Given the description of an element on the screen output the (x, y) to click on. 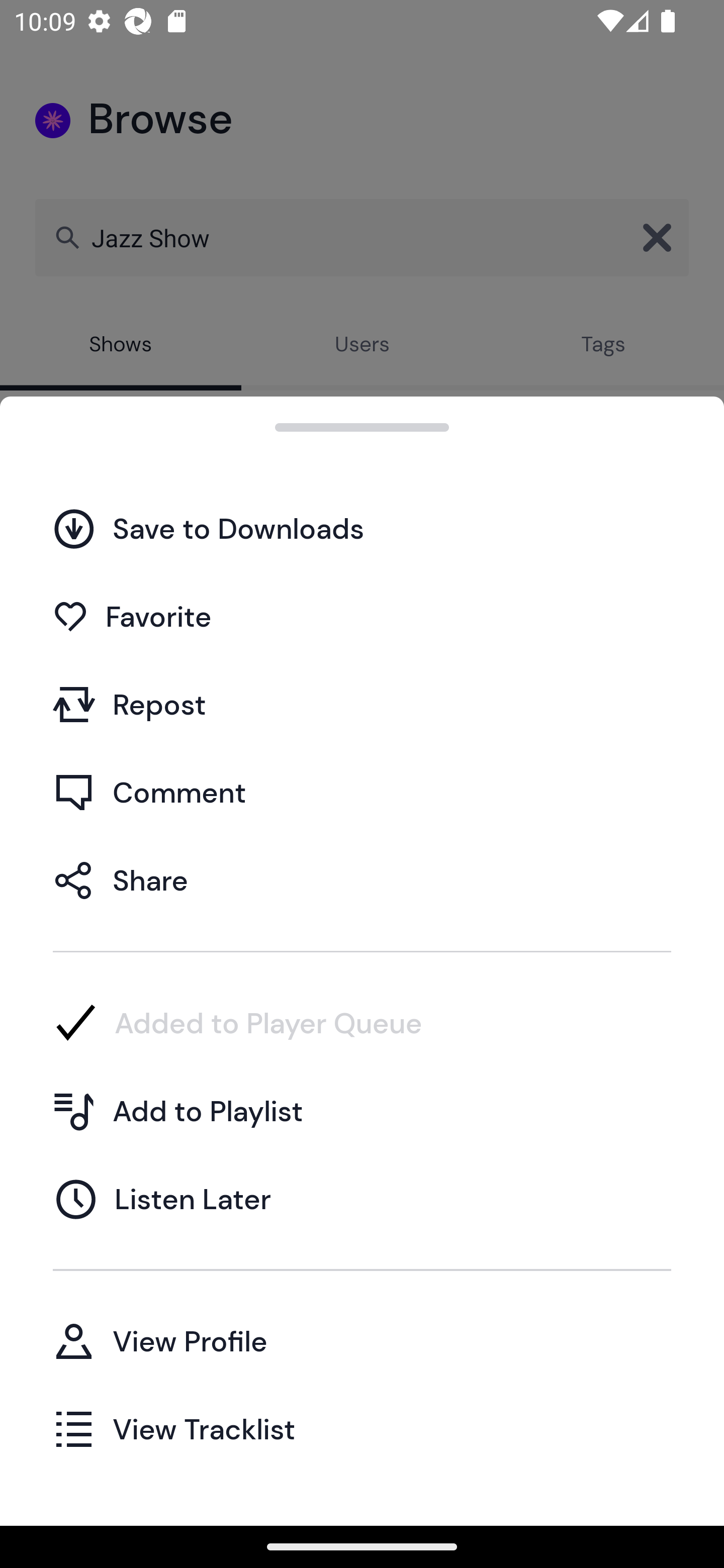
Save to Downloads (361, 528)
Favorite (361, 616)
Repost (361, 703)
Comment (361, 791)
Share (361, 879)
Add to Playlist (361, 1110)
Listen Later (361, 1199)
View Profile (361, 1340)
View Tracklist (361, 1428)
